Given the description of an element on the screen output the (x, y) to click on. 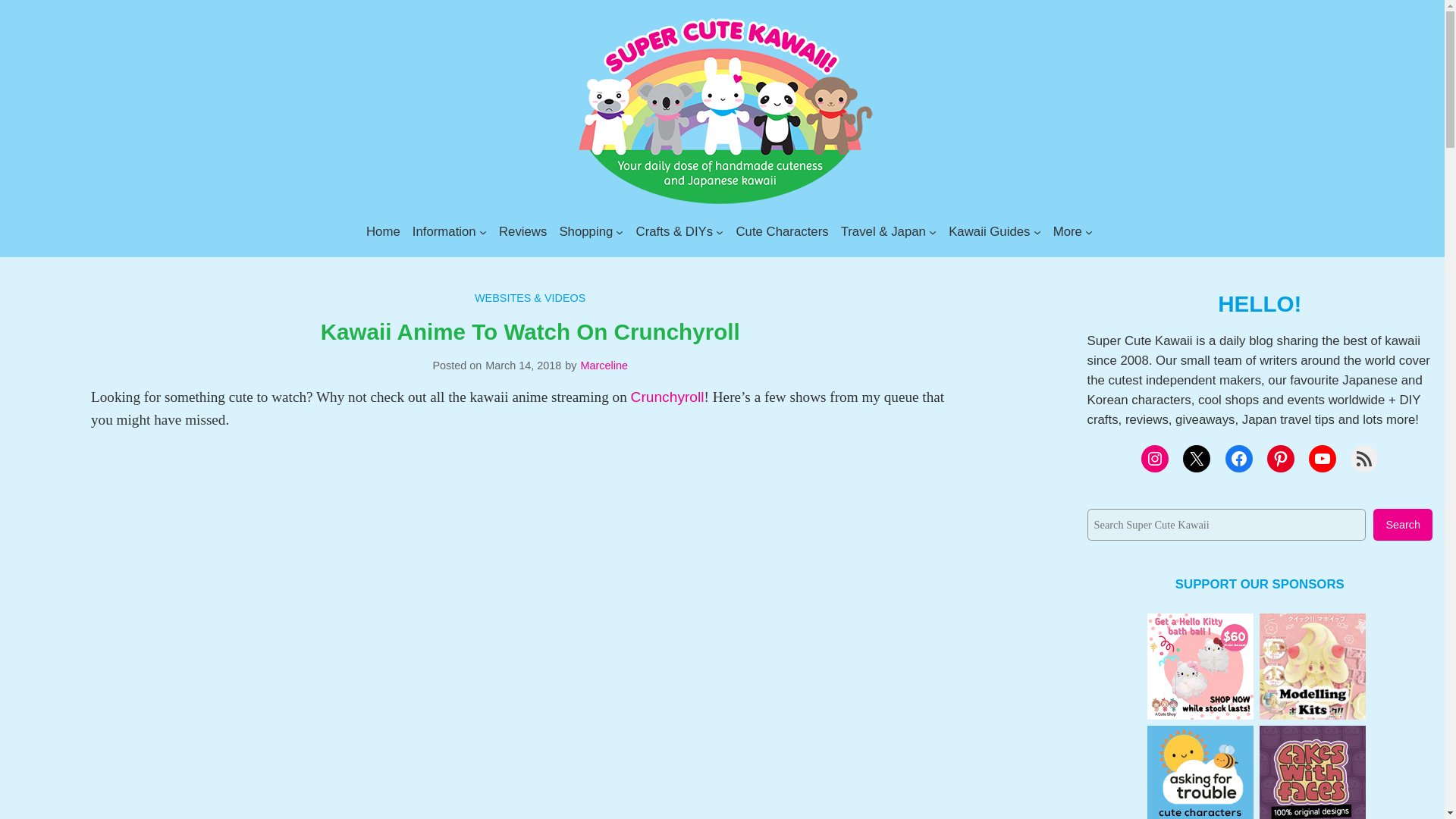
Reviews (523, 231)
Information (444, 231)
Home (383, 231)
Shopping (585, 231)
